Given the description of an element on the screen output the (x, y) to click on. 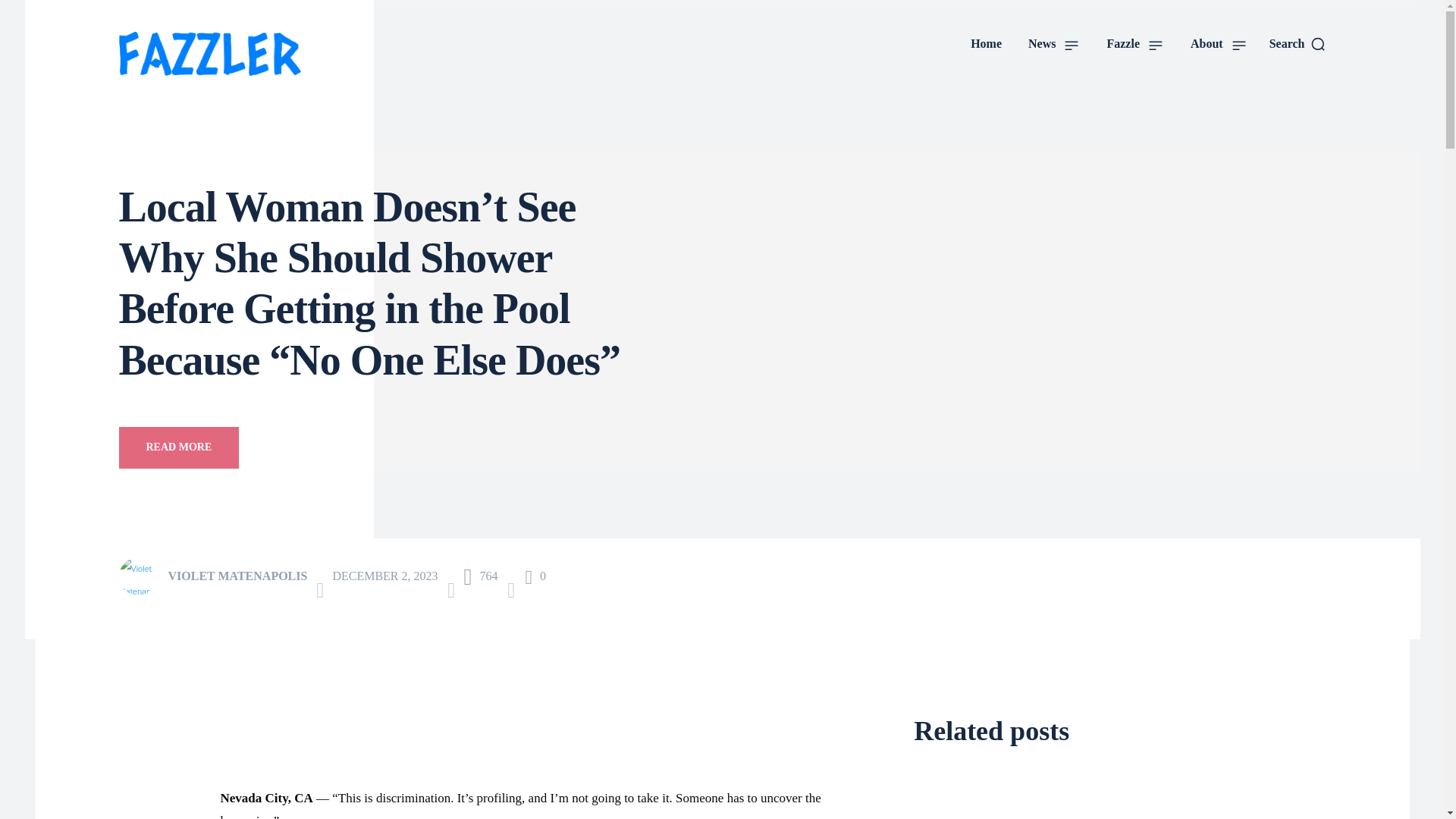
Fazzle (1134, 43)
News (1054, 43)
Violet Matenapolis (141, 576)
About (1218, 43)
Read More (177, 447)
Home (986, 43)
